Given the description of an element on the screen output the (x, y) to click on. 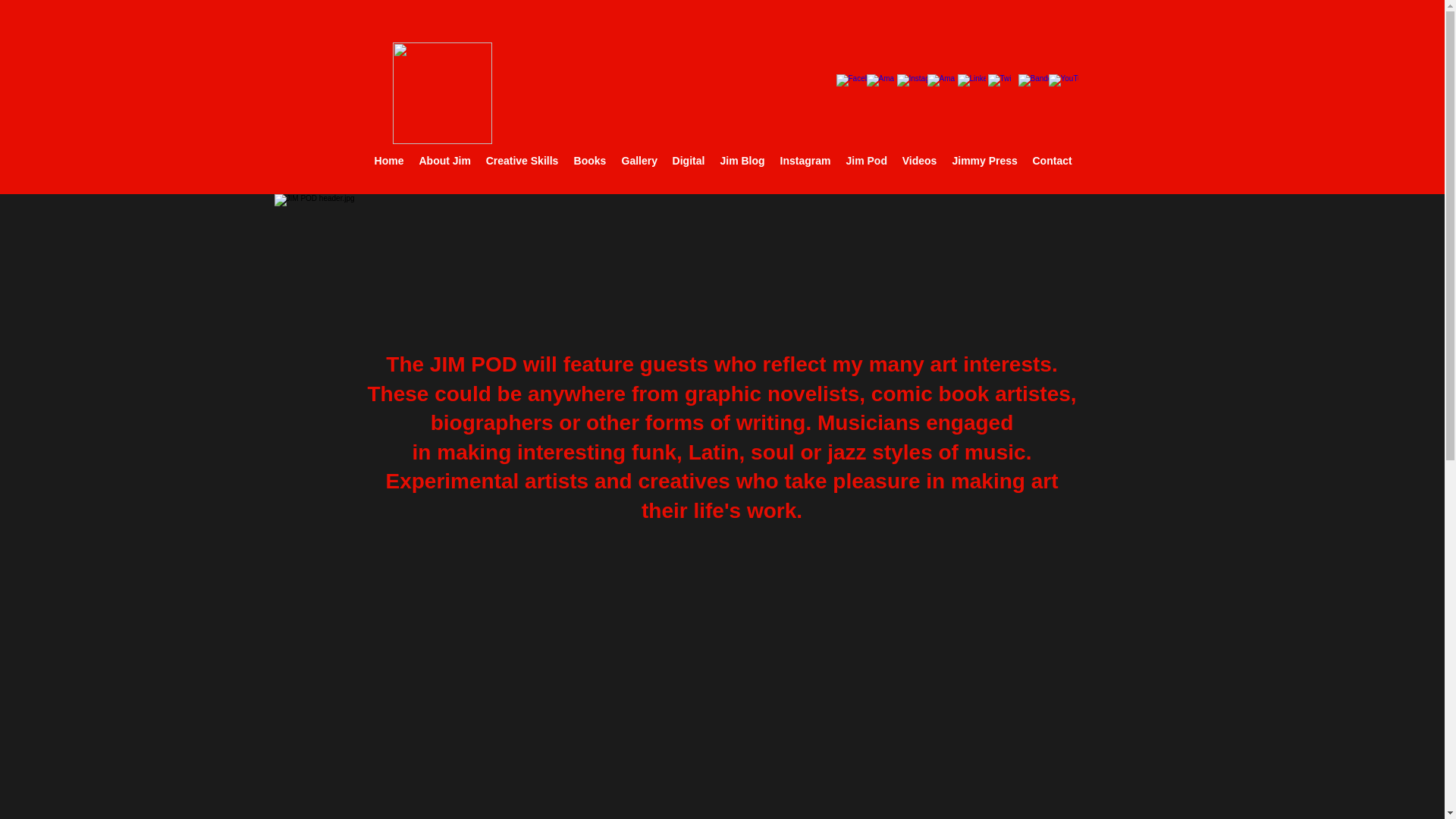
Creative Skills (521, 160)
Digital (687, 160)
Jim Blog (743, 160)
Gallery (639, 160)
About Jim (443, 160)
Videos (919, 160)
Books (589, 160)
Jimmy Press (984, 160)
JIMMY FAVI CON ONE SMALL PNG.png (442, 93)
Home (389, 160)
Contact (1052, 160)
Jim Pod (866, 160)
Instagram (804, 160)
